Given the description of an element on the screen output the (x, y) to click on. 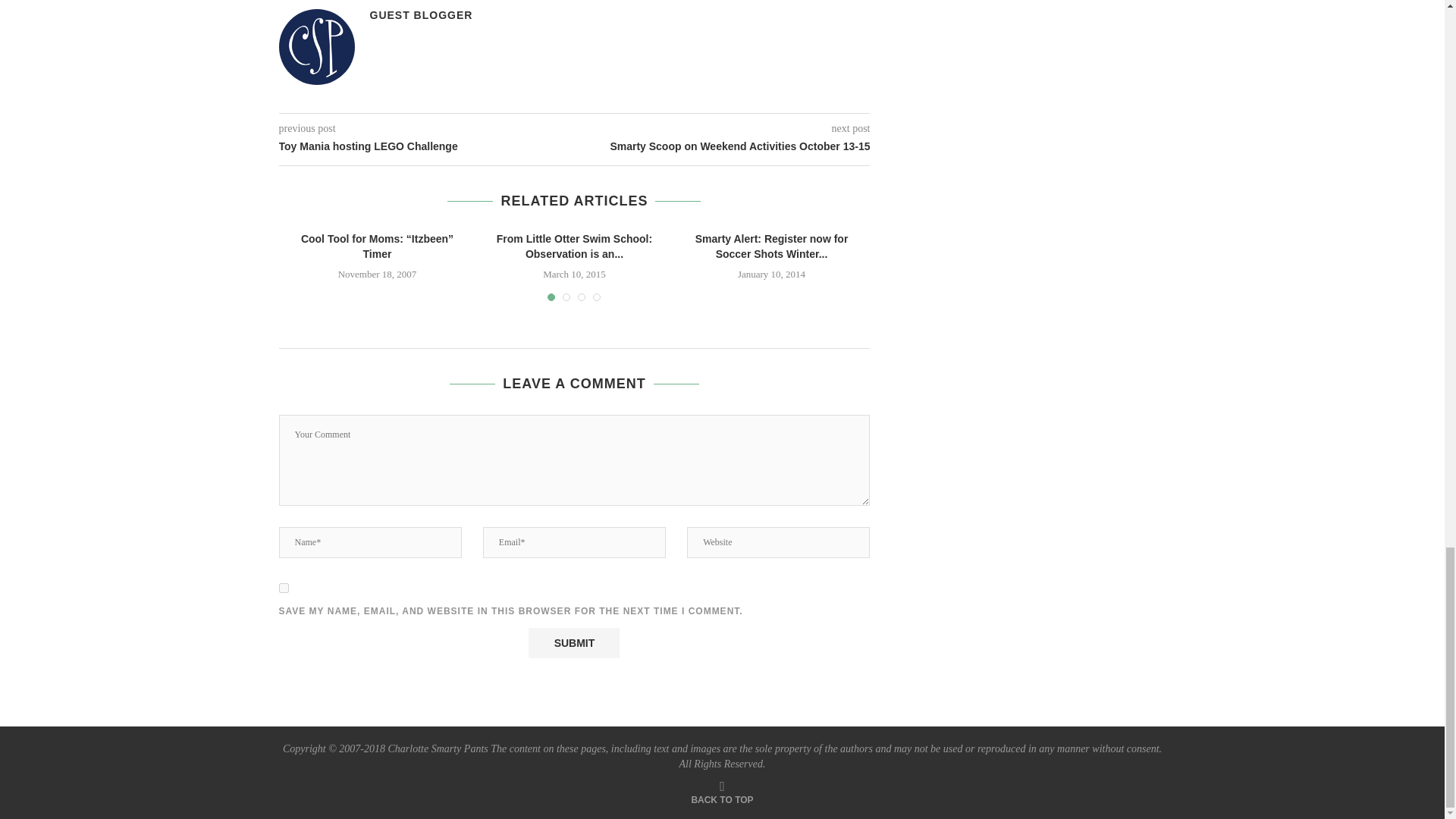
Submit (574, 643)
yes (283, 587)
Posts by Guest Blogger (421, 15)
